Given the description of an element on the screen output the (x, y) to click on. 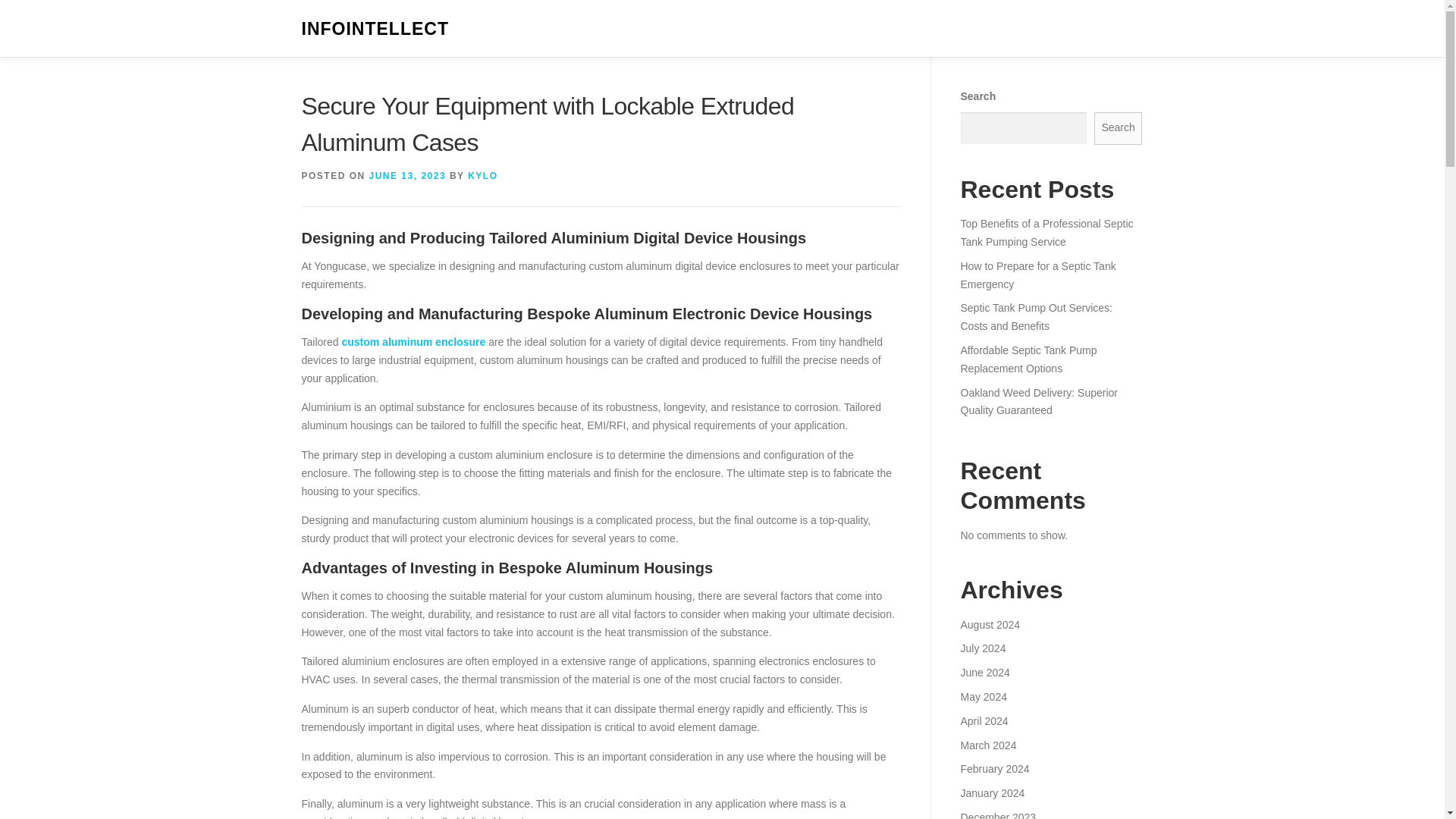
INFOINTELLECT (374, 29)
KYLO (482, 175)
June 2024 (984, 672)
Search (1118, 128)
August 2024 (989, 624)
Septic Tank Pump Out Services: Costs and Benefits (1035, 317)
January 2024 (992, 793)
Affordable Septic Tank Pump Replacement Options (1027, 358)
December 2023 (997, 815)
March 2024 (987, 744)
